Given the description of an element on the screen output the (x, y) to click on. 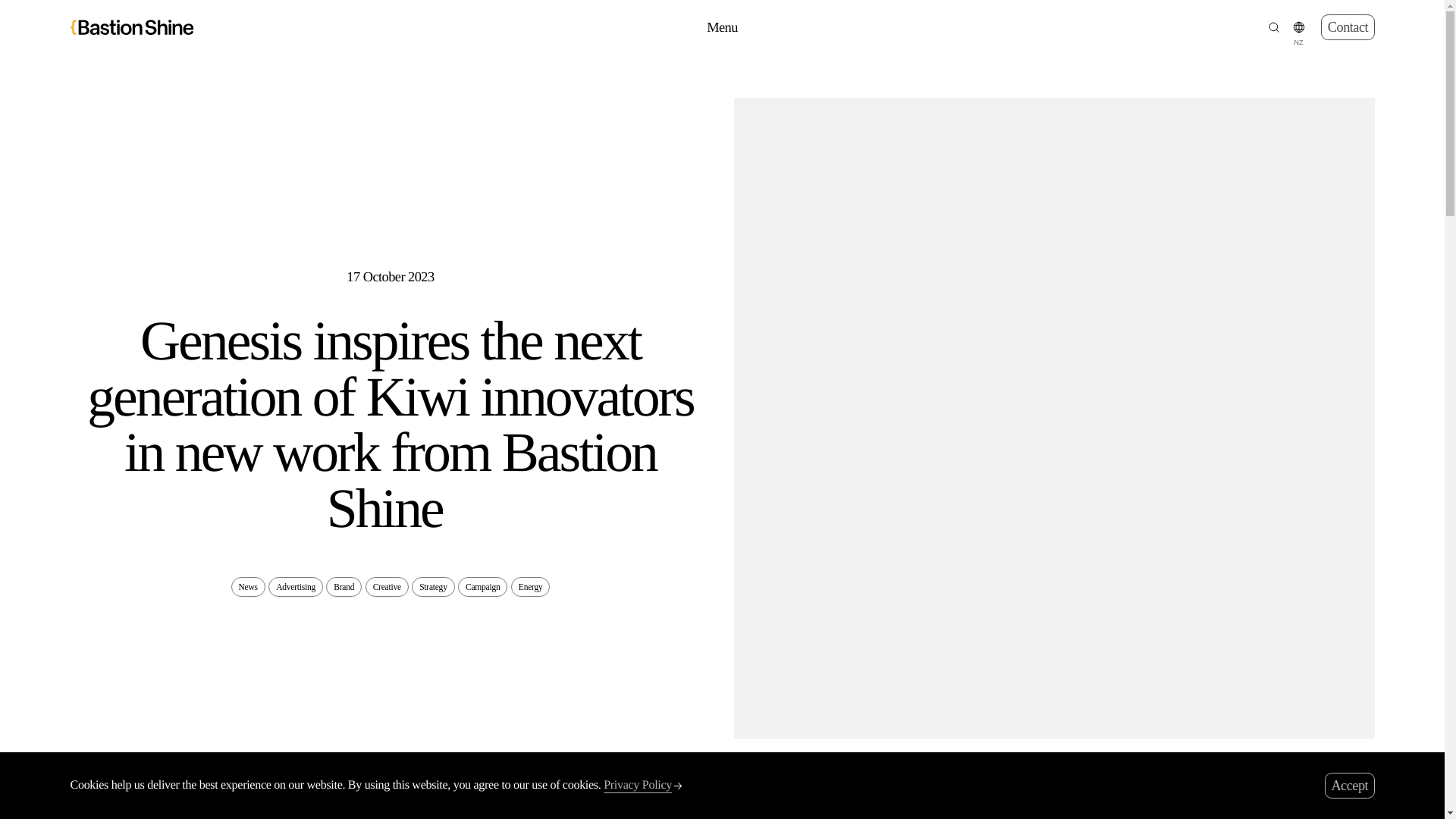
Creative (387, 586)
Brand (343, 586)
News (247, 586)
Accept (1349, 785)
Choose a region (1298, 27)
NZ (1298, 27)
Advertising (295, 586)
Privacy Policy (644, 785)
Strategy (433, 586)
Campaign (482, 586)
Energy (530, 586)
Contact (1347, 27)
